Given the description of an element on the screen output the (x, y) to click on. 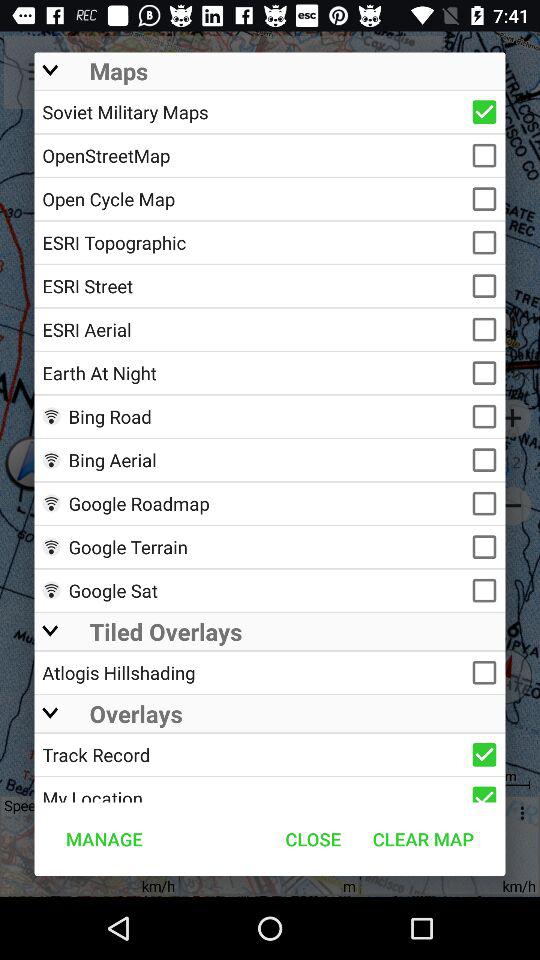
scroll to close (313, 838)
